Given the description of an element on the screen output the (x, y) to click on. 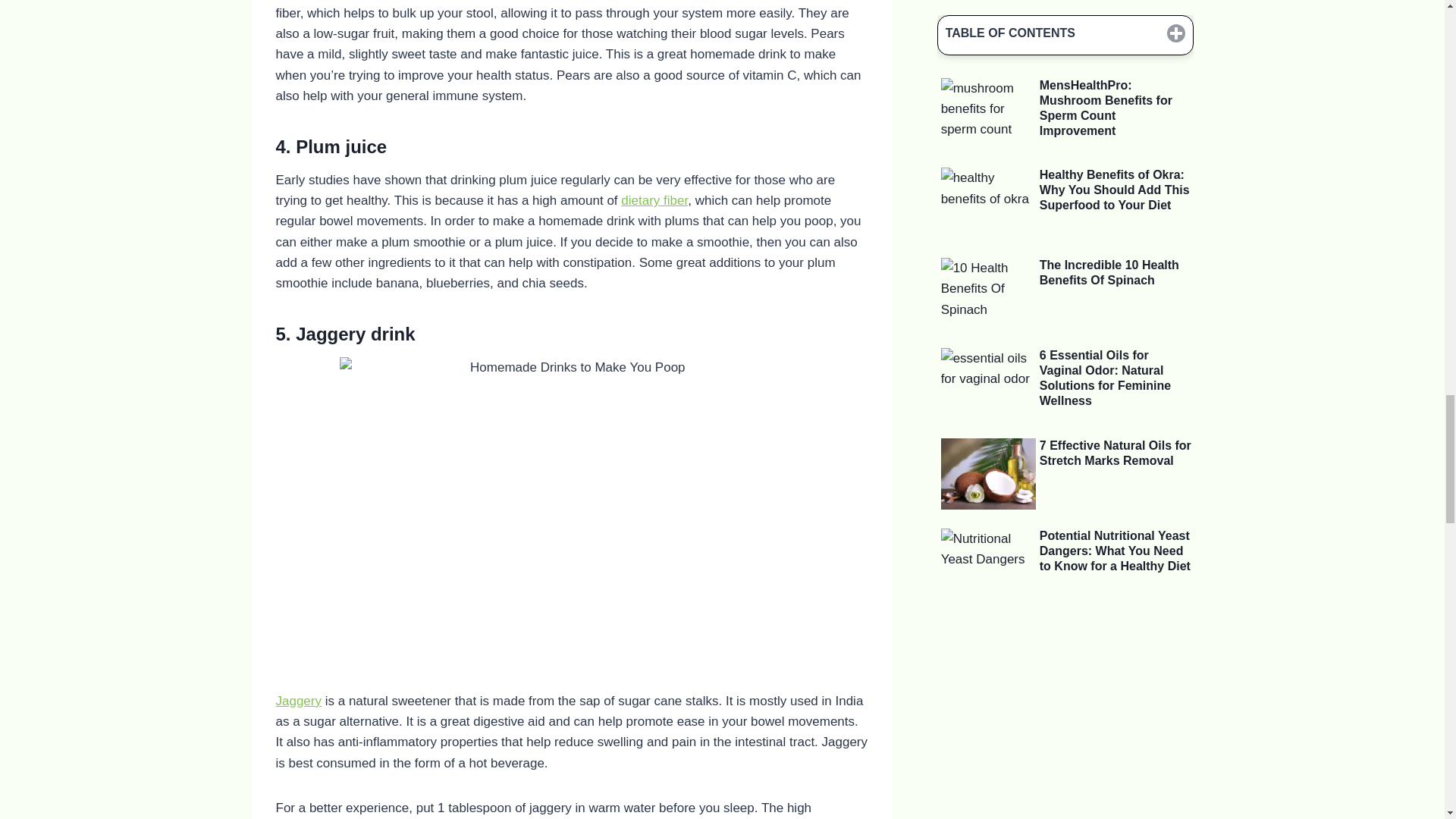
Jaggery (298, 700)
dietary fiber (654, 200)
